Given the description of an element on the screen output the (x, y) to click on. 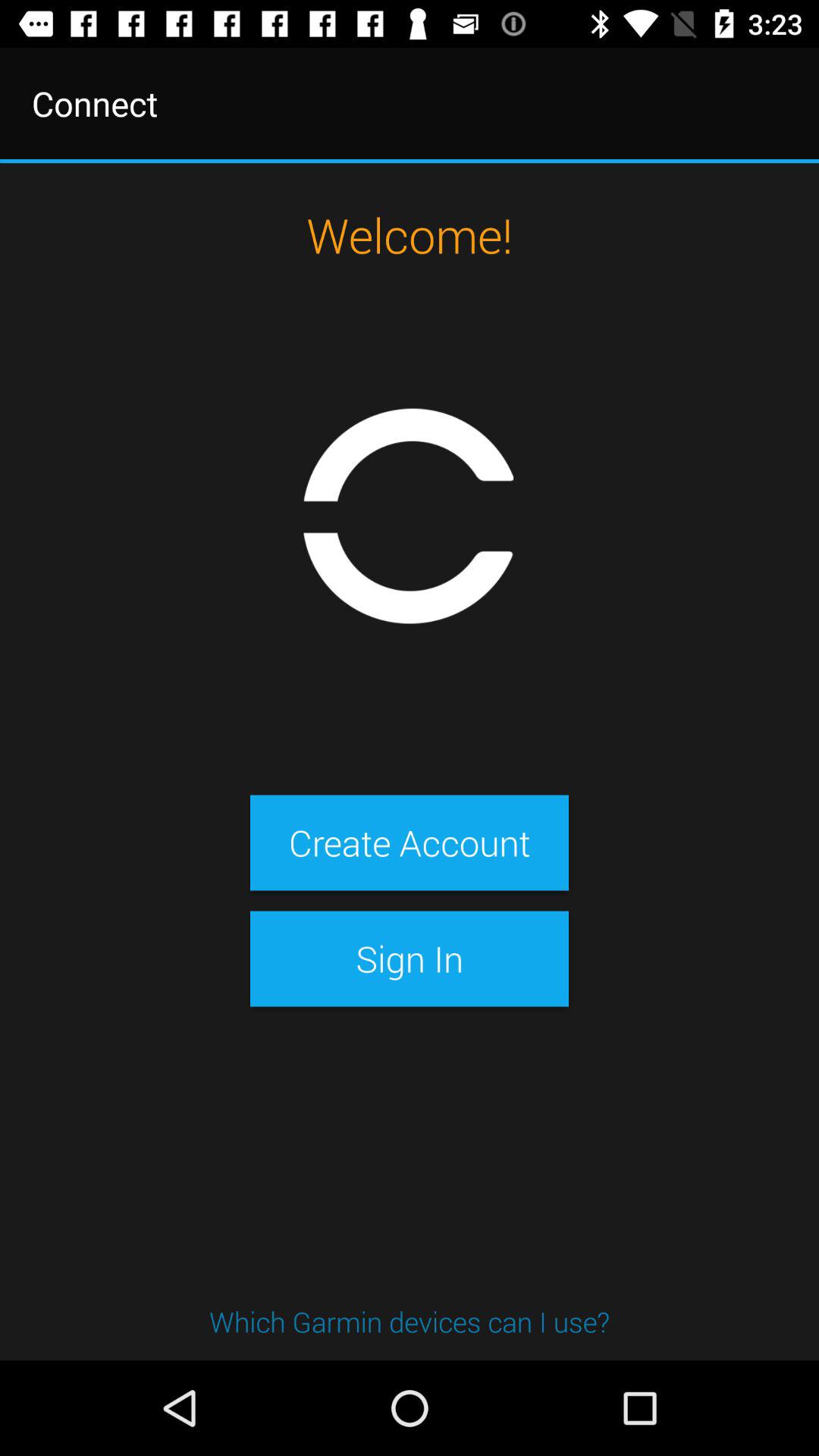
turn off which garmin devices icon (409, 1321)
